Given the description of an element on the screen output the (x, y) to click on. 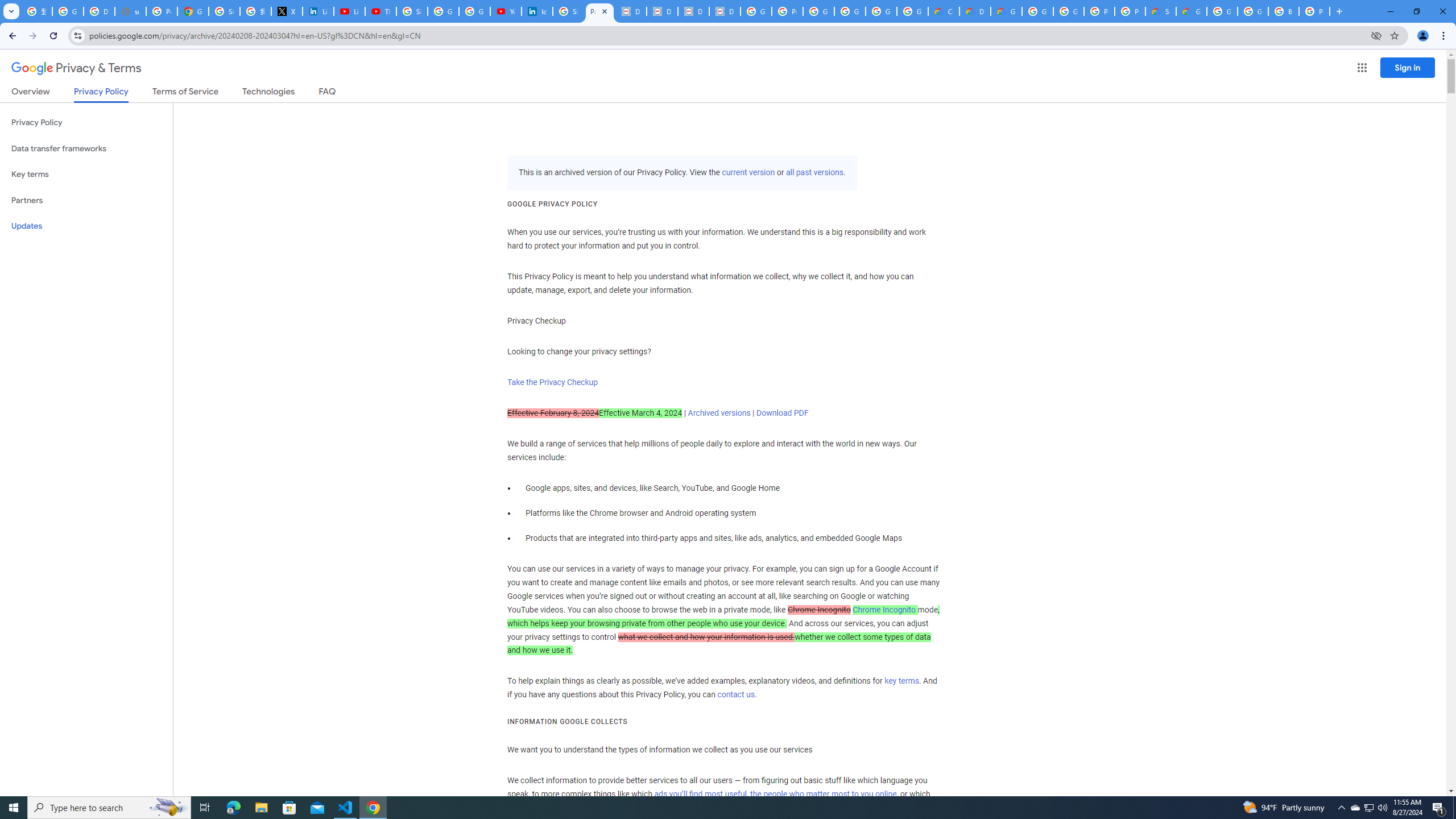
Download PDF (781, 412)
the people who matter most to you online (822, 793)
key terms (900, 681)
contact us (735, 694)
